Given the description of an element on the screen output the (x, y) to click on. 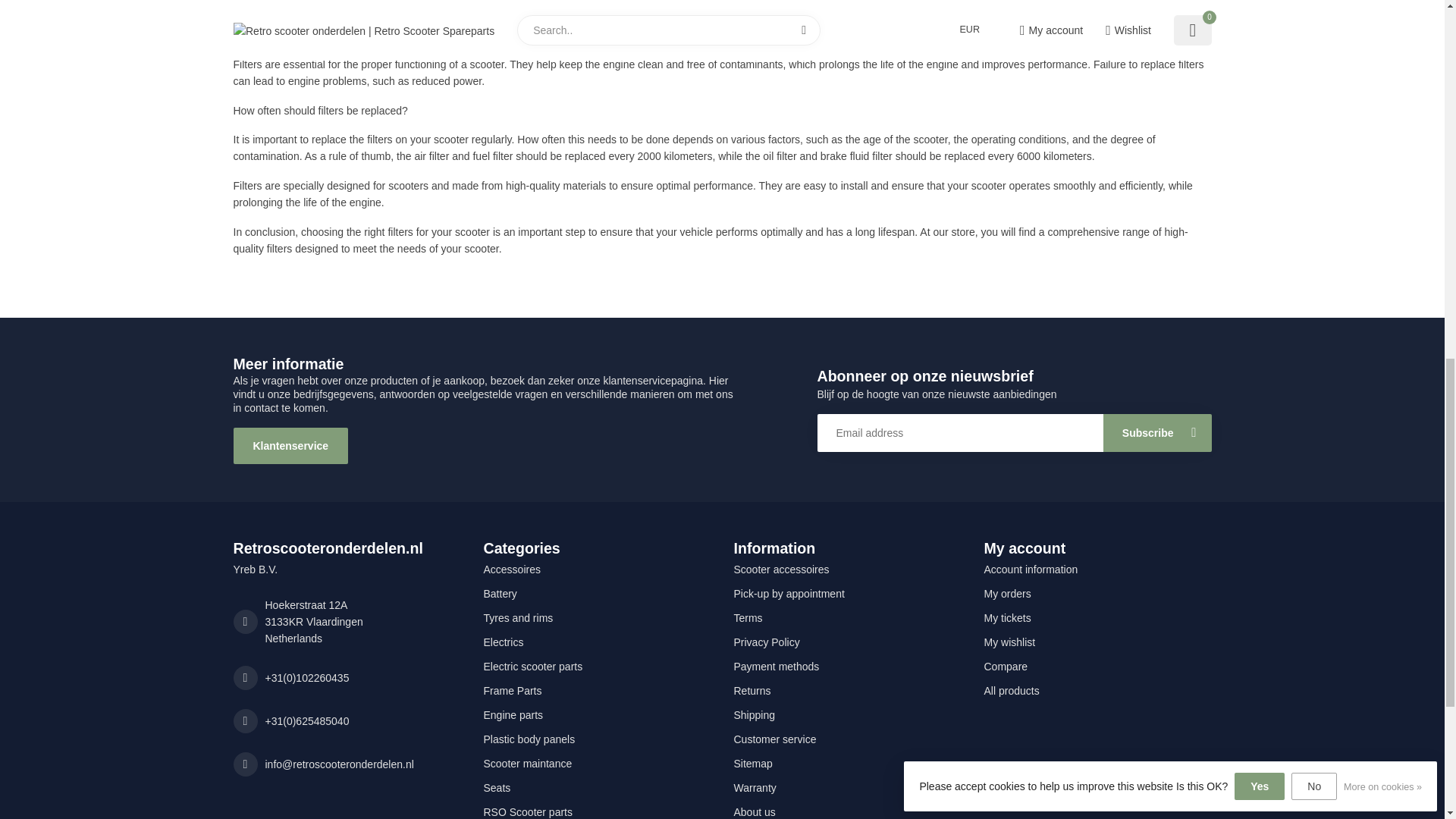
Customer service  (846, 739)
Terms (846, 617)
Pick-up by appointment (846, 593)
My tickets (1097, 617)
Warranty (846, 787)
Shipping (846, 714)
Account information (1097, 569)
My orders (1097, 593)
Privacy Policy (846, 641)
Scooter accessoires (846, 569)
